Given the description of an element on the screen output the (x, y) to click on. 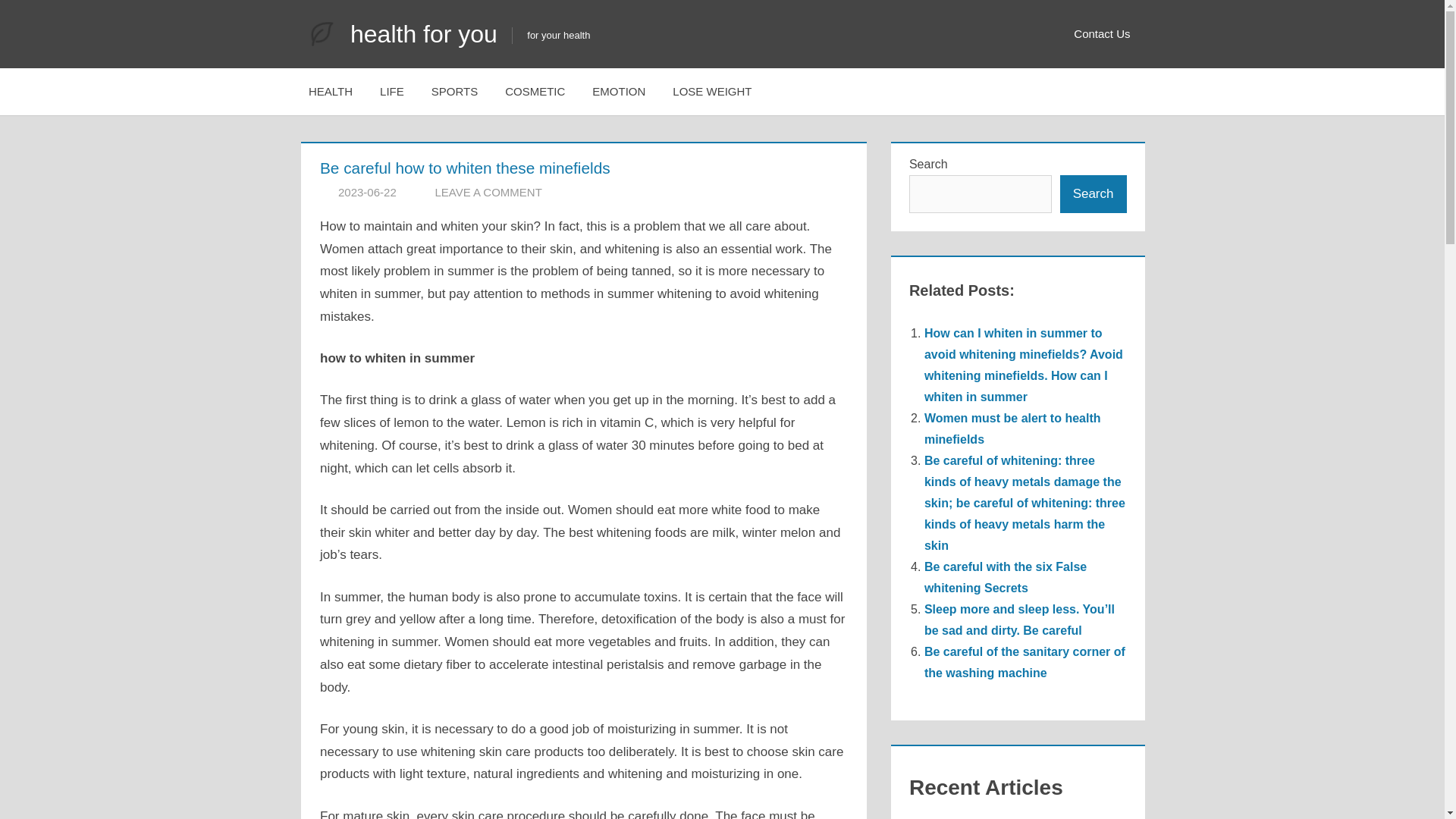
View all posts by nonight (456, 192)
health for you (423, 33)
2023-06-22 (366, 192)
LEAVE A COMMENT (487, 192)
LIFE (391, 91)
SPORTS (454, 91)
LOSE WEIGHT (712, 91)
19:15 (366, 192)
Contact Us (1100, 34)
HEALTH (330, 91)
Be careful with the six False whitening Secrets (1005, 577)
COSMETIC (535, 91)
